Given the description of an element on the screen output the (x, y) to click on. 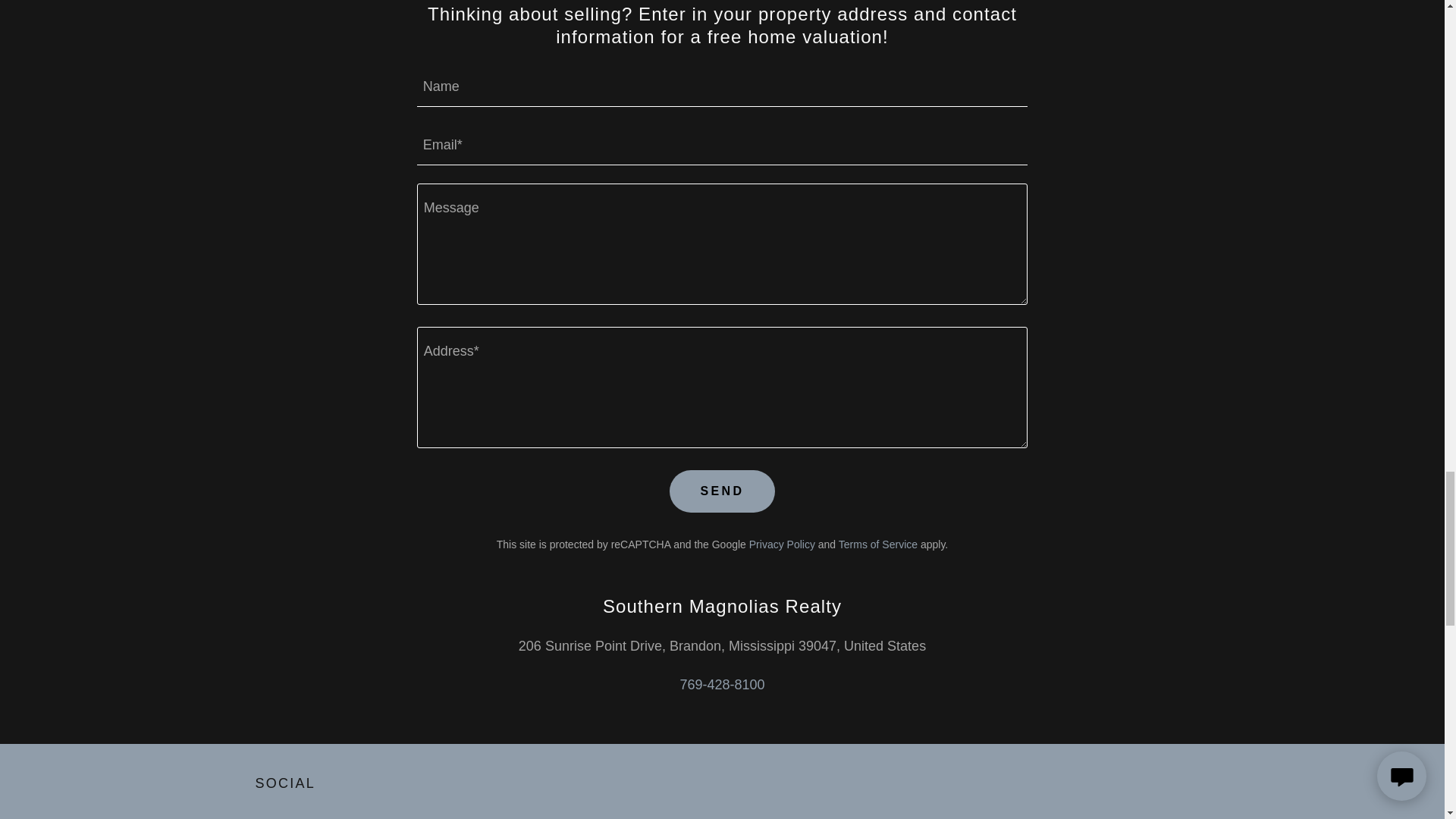
Privacy Policy (782, 544)
769-428-8100 (721, 684)
Terms of Service (877, 544)
SEND (721, 491)
